Given the description of an element on the screen output the (x, y) to click on. 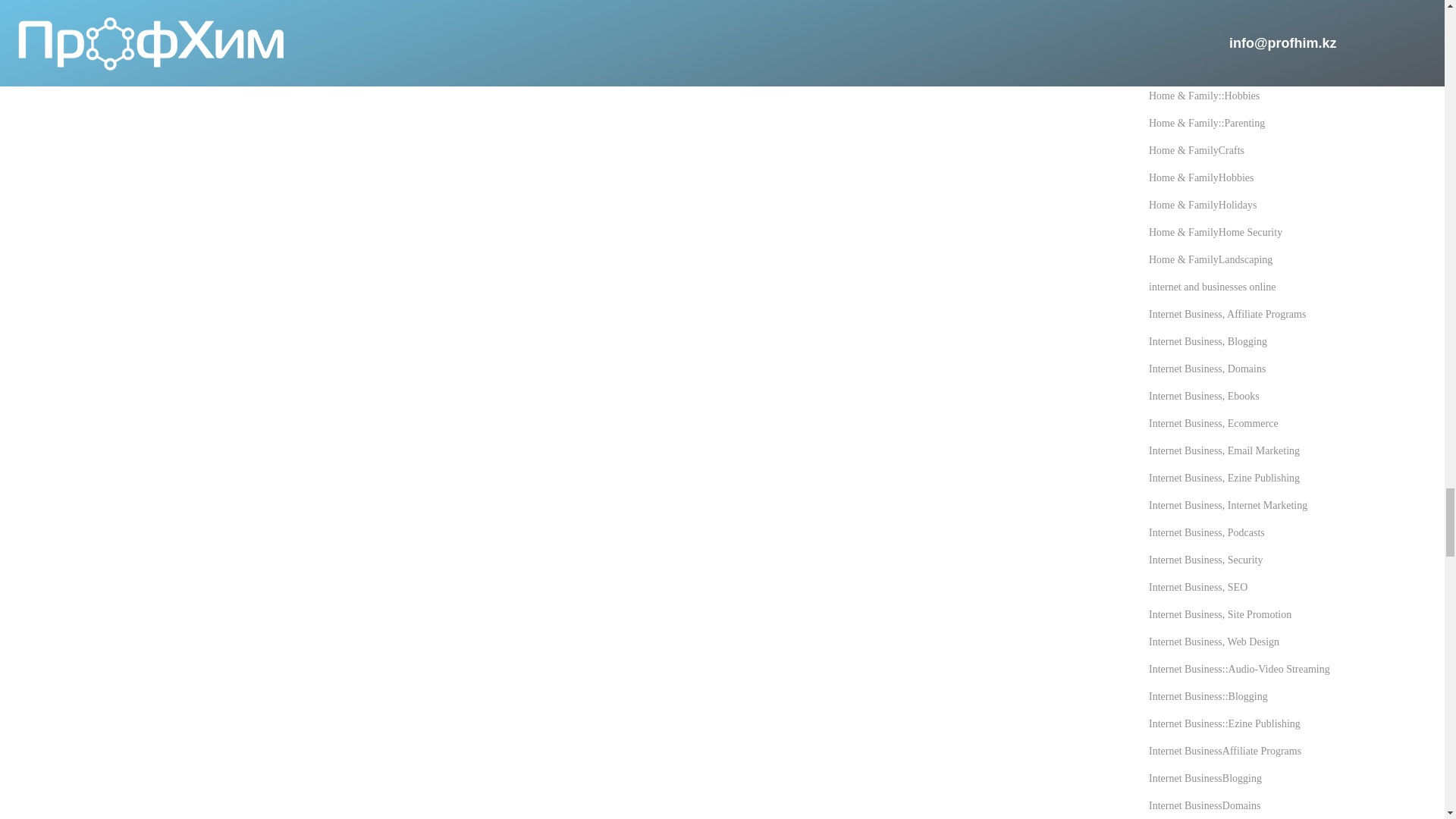
Submit (60, 14)
Submit (60, 14)
